Given the description of an element on the screen output the (x, y) to click on. 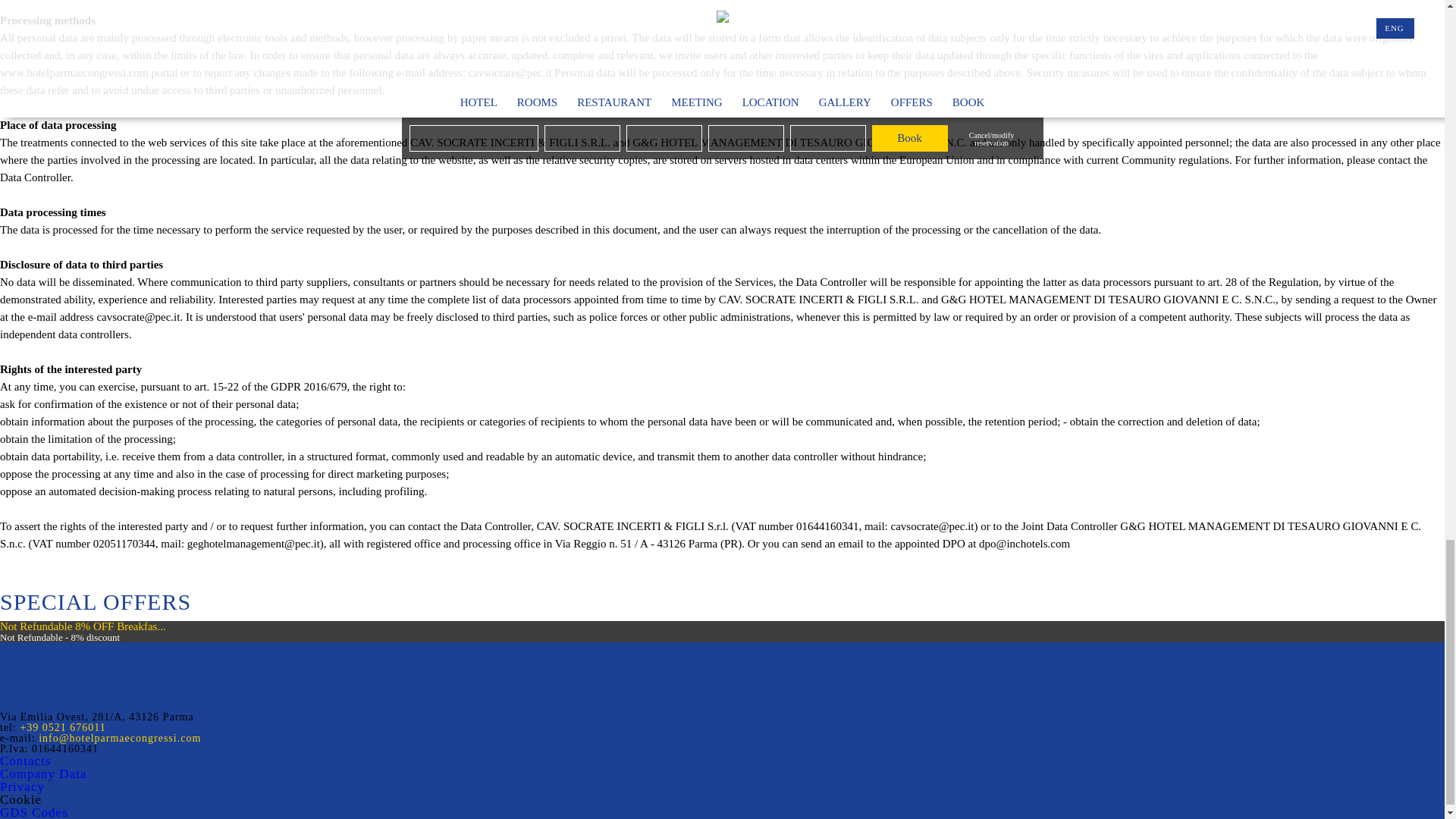
Company Data (42, 773)
GDS Codes (34, 812)
Contacts (25, 760)
Company Data (42, 773)
Privacy (22, 786)
GDS Codes (34, 812)
Cookie (21, 799)
Cookie  (21, 799)
Privacy (22, 786)
Contacts (25, 760)
